Given the description of an element on the screen output the (x, y) to click on. 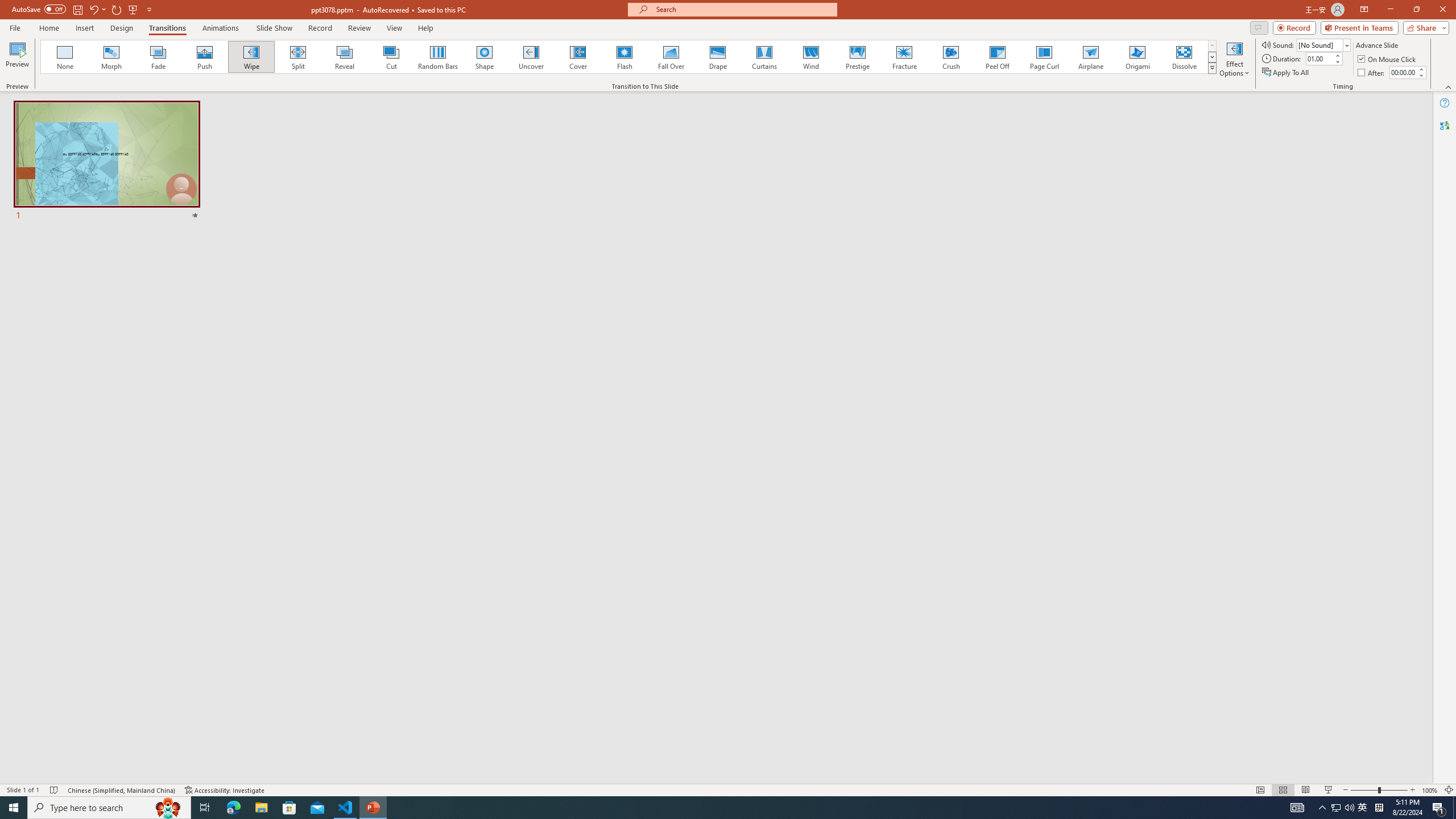
Row up (1212, 45)
Cut (391, 56)
Duration (1319, 58)
Curtains (764, 56)
Accessibility Checker Accessibility: Investigate (224, 790)
Fall Over (670, 56)
After (1403, 72)
More (1420, 69)
